Given the description of an element on the screen output the (x, y) to click on. 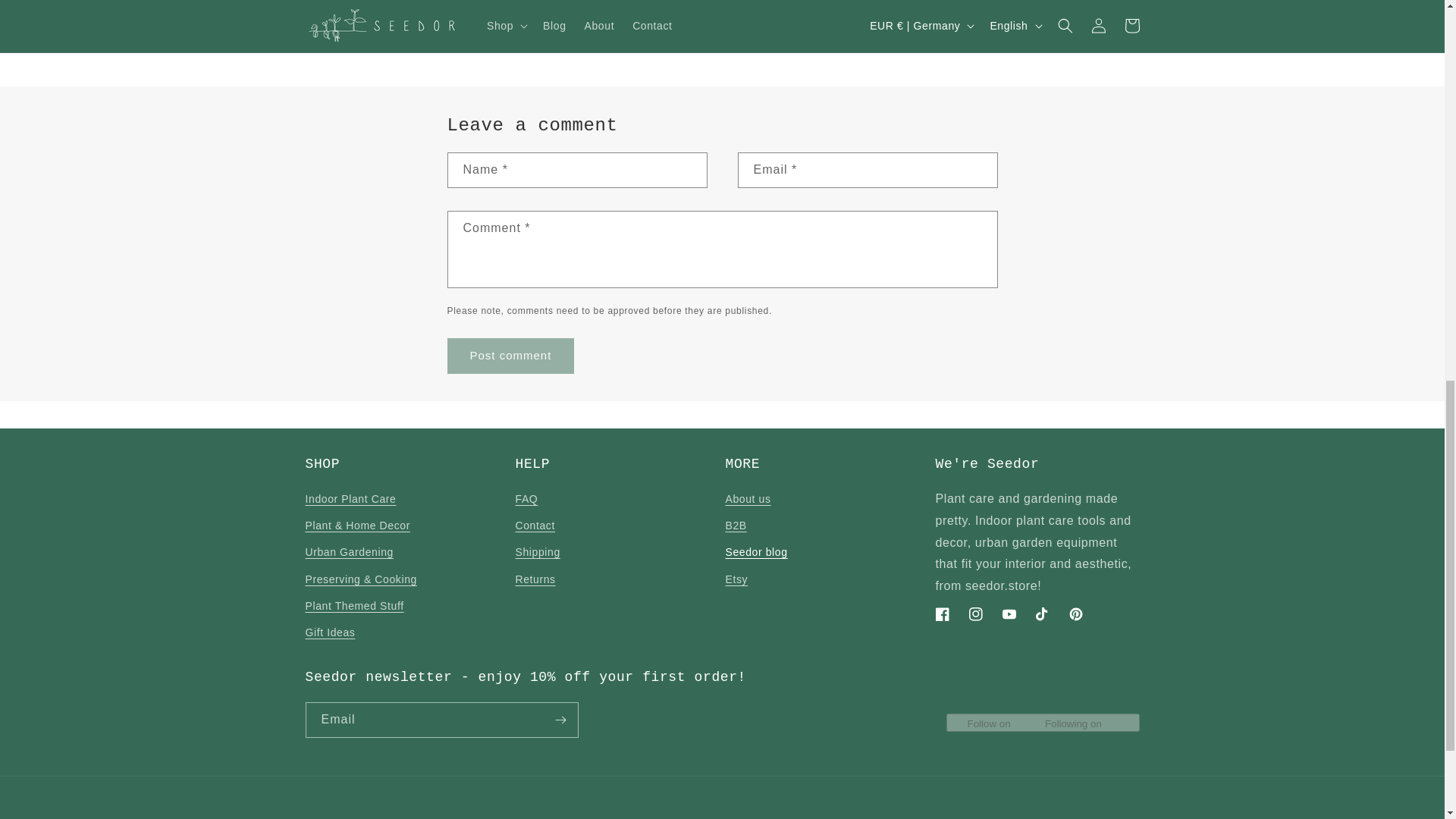
Post comment (510, 355)
